Given the description of an element on the screen output the (x, y) to click on. 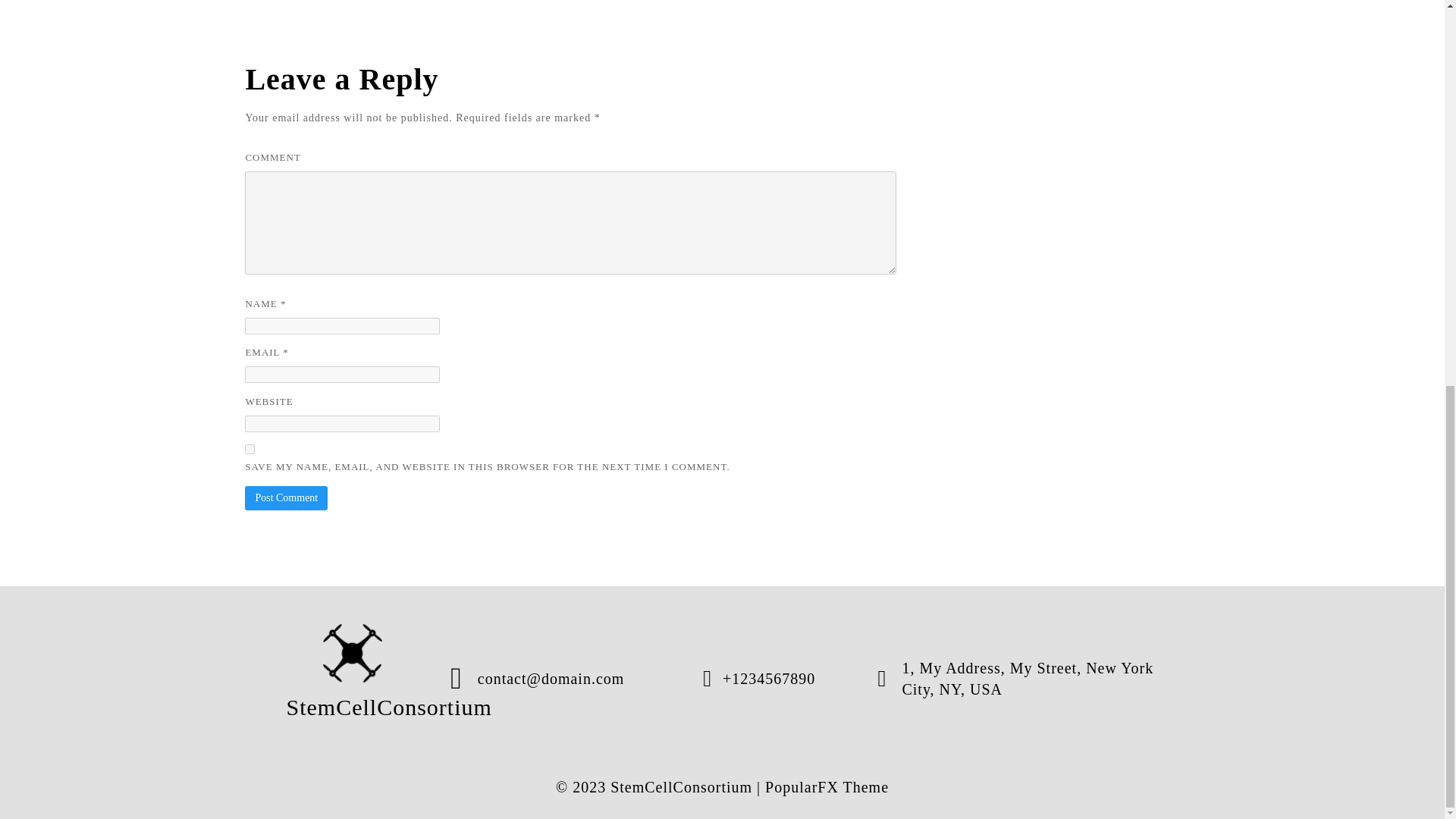
Post Comment (285, 498)
logo (352, 652)
StemCellConsortium (352, 678)
Post Comment (285, 498)
PopularFX Theme (826, 786)
yes (249, 449)
